Given the description of an element on the screen output the (x, y) to click on. 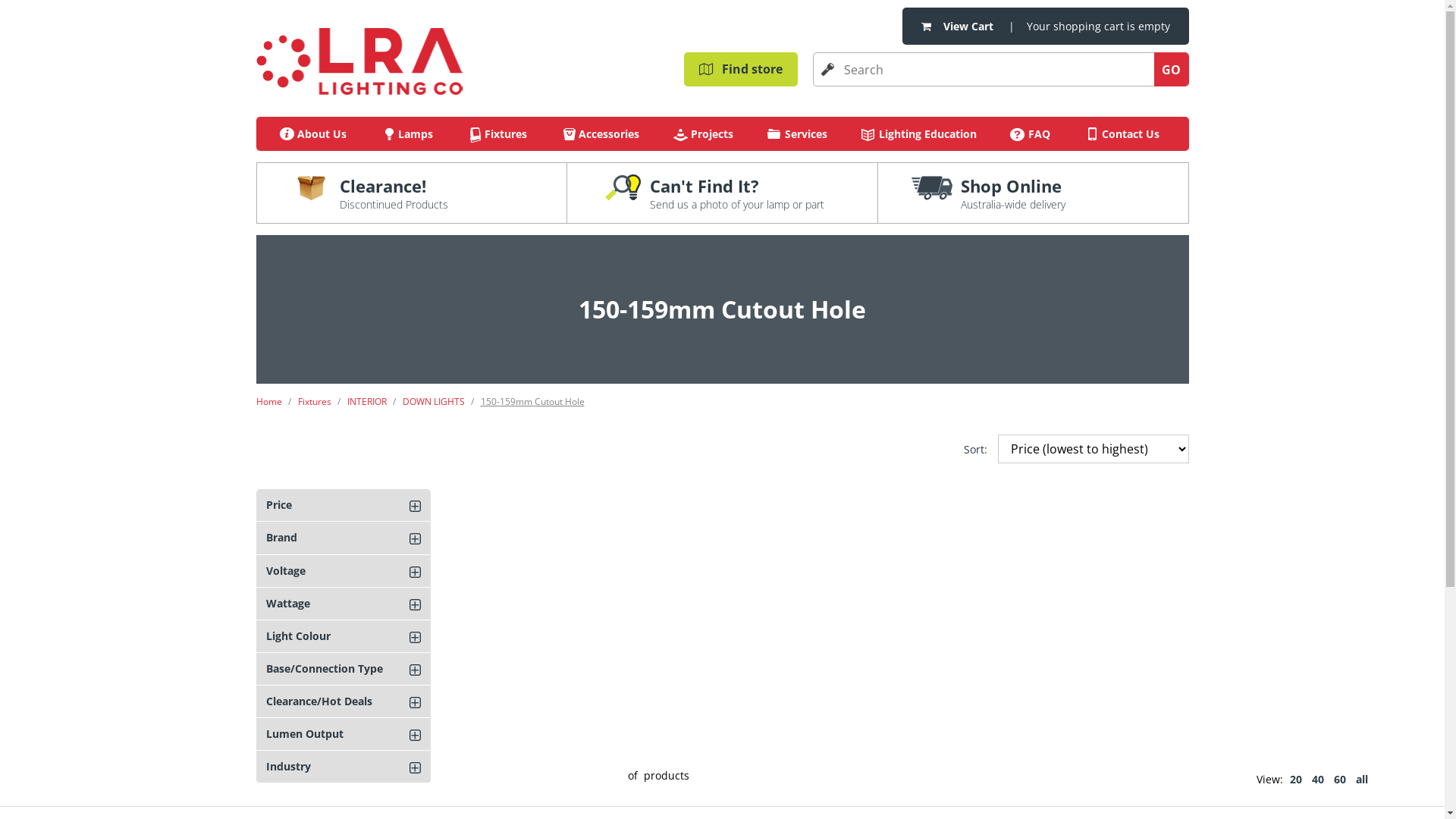
Fixtures Element type: text (497, 133)
DOWN LIGHTS Element type: text (439, 401)
Accessories Element type: text (600, 133)
About Us Element type: text (314, 133)
Contact Us Element type: text (1122, 133)
Can'T Find It?
Send us a photo of your lamp or part Element type: text (722, 192)
Fixtures Element type: text (320, 401)
View Cart Element type: text (968, 25)
Services Element type: text (797, 133)
FAQ Element type: text (1031, 133)
INTERIOR Element type: text (373, 401)
150-159mm Cutout Hole Element type: text (532, 401)
Clearance!
Discontinued Products Element type: text (411, 192)
Home Element type: text (275, 401)
Projects Element type: text (703, 133)
Lamps Element type: text (406, 133)
Find store Element type: text (740, 69)
Lighting Education Element type: text (919, 133)
Shop Online
Australia-wide delivery Element type: text (1032, 192)
Your shopping cart is empty Element type: text (1098, 25)
GO Element type: text (1171, 69)
